Given the description of an element on the screen output the (x, y) to click on. 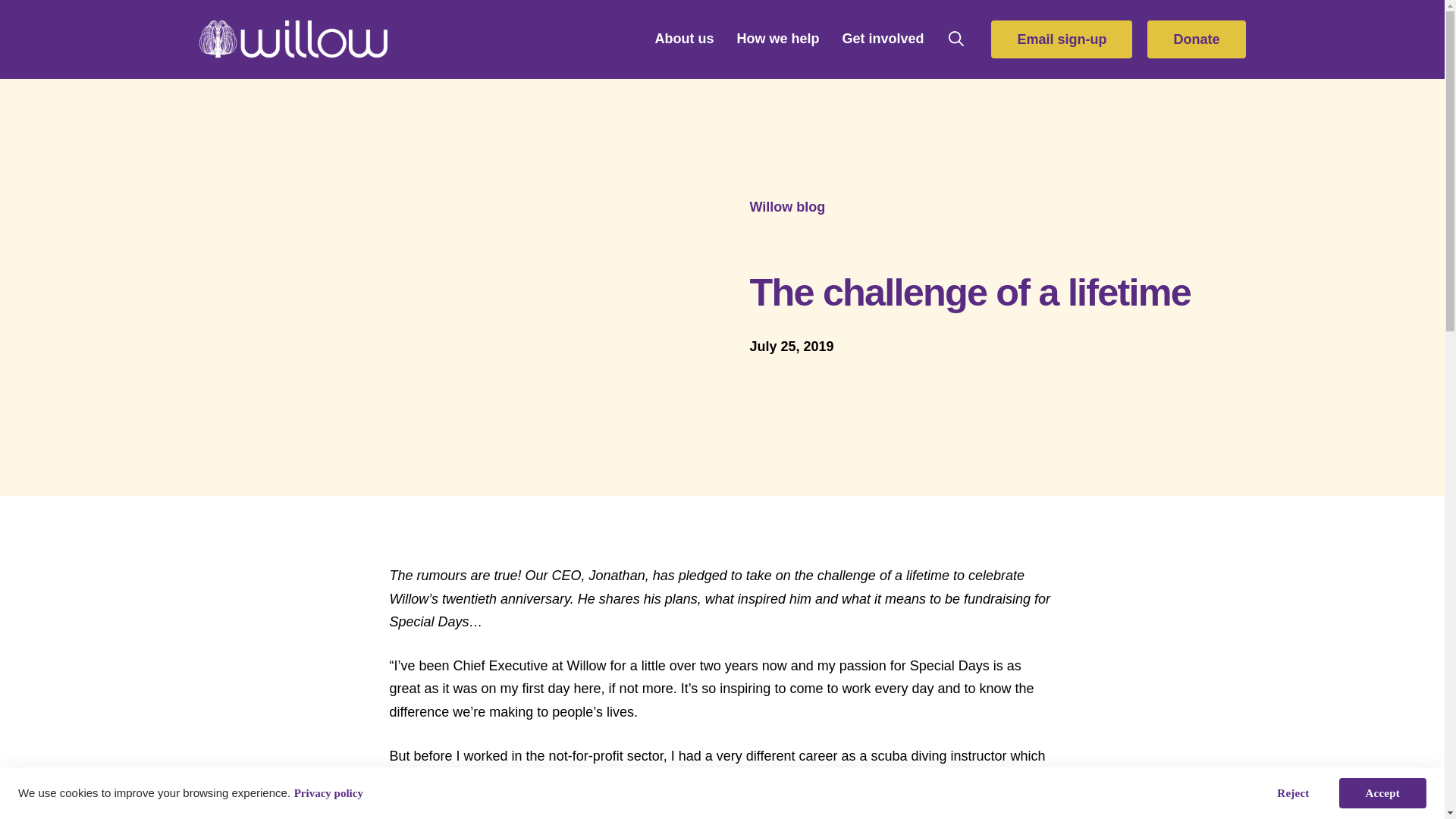
How we help (777, 38)
About us (683, 38)
Get involved (882, 38)
